Given the description of an element on the screen output the (x, y) to click on. 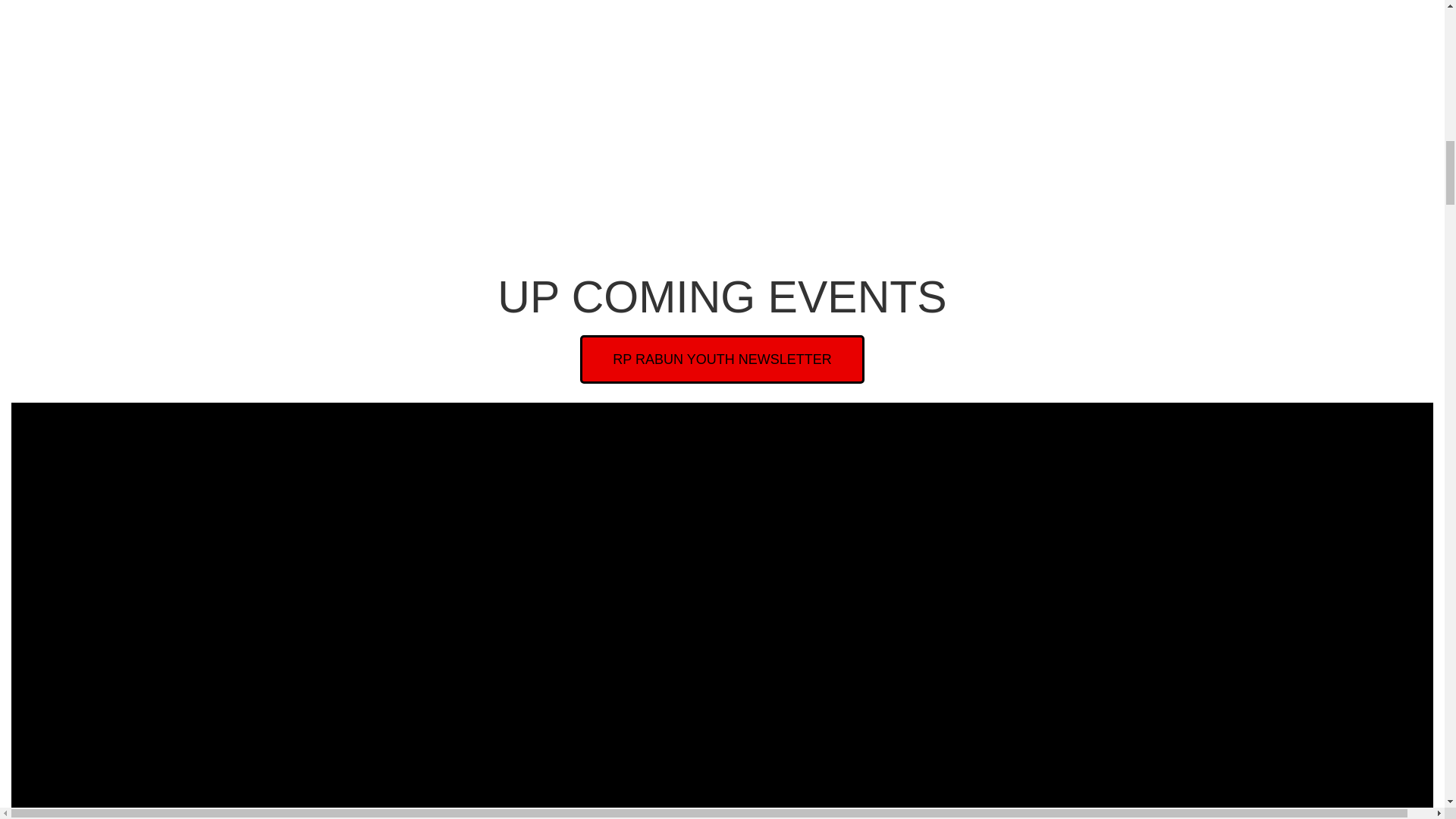
RP RABUN YOUTH NEWSLETTER (721, 359)
